Given the description of an element on the screen output the (x, y) to click on. 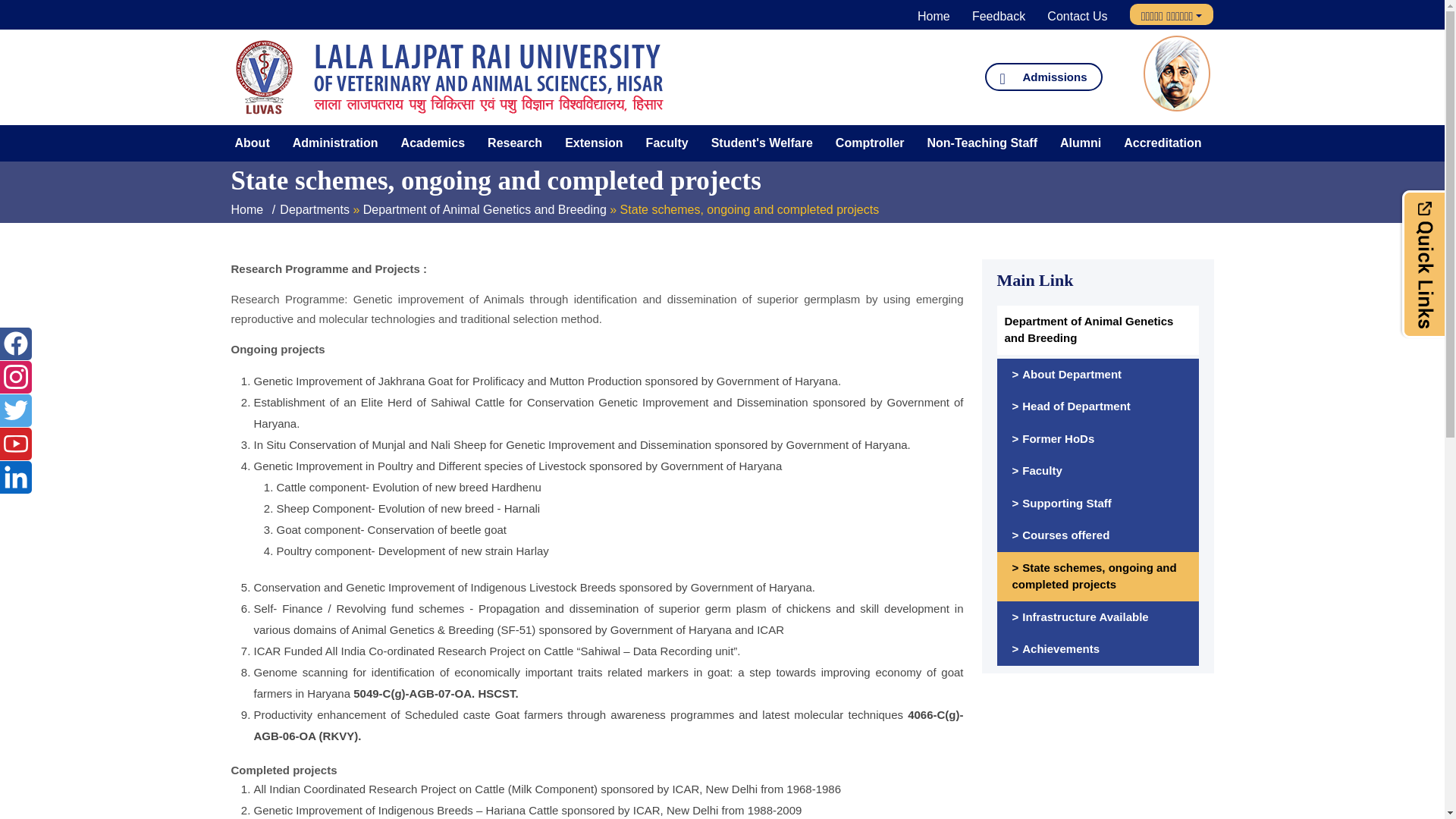
Feedback (998, 15)
Home (933, 15)
LUVAS YouTube (15, 443)
Administration (334, 142)
LUVAS Facebook (15, 343)
About (251, 142)
LUVAS Instagram (15, 376)
LUVAS Twitter (15, 410)
Admissions (1043, 76)
Contact Us (1076, 15)
